Given the description of an element on the screen output the (x, y) to click on. 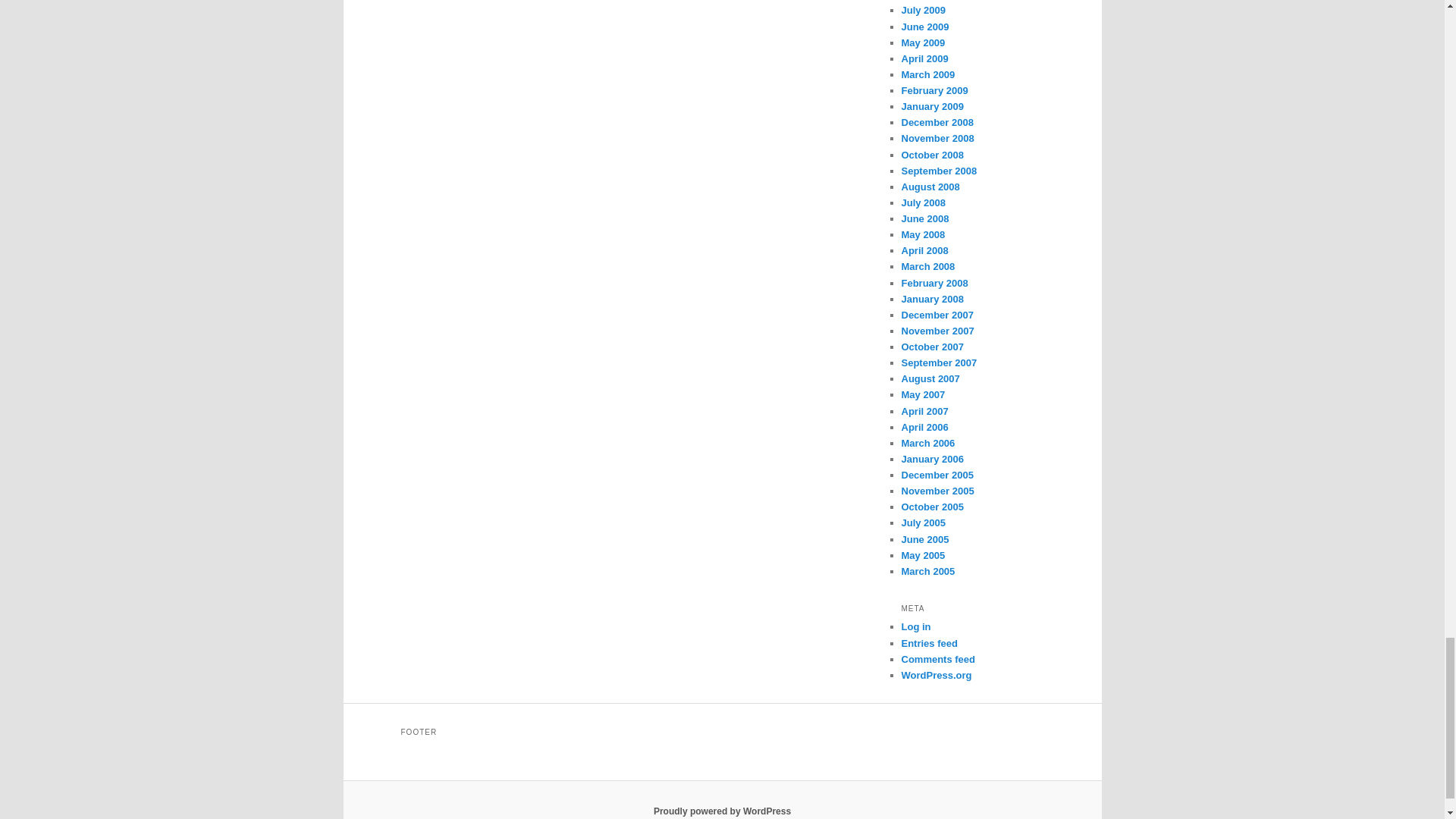
Semantic Personal Publishing Platform (721, 810)
